Given the description of an element on the screen output the (x, y) to click on. 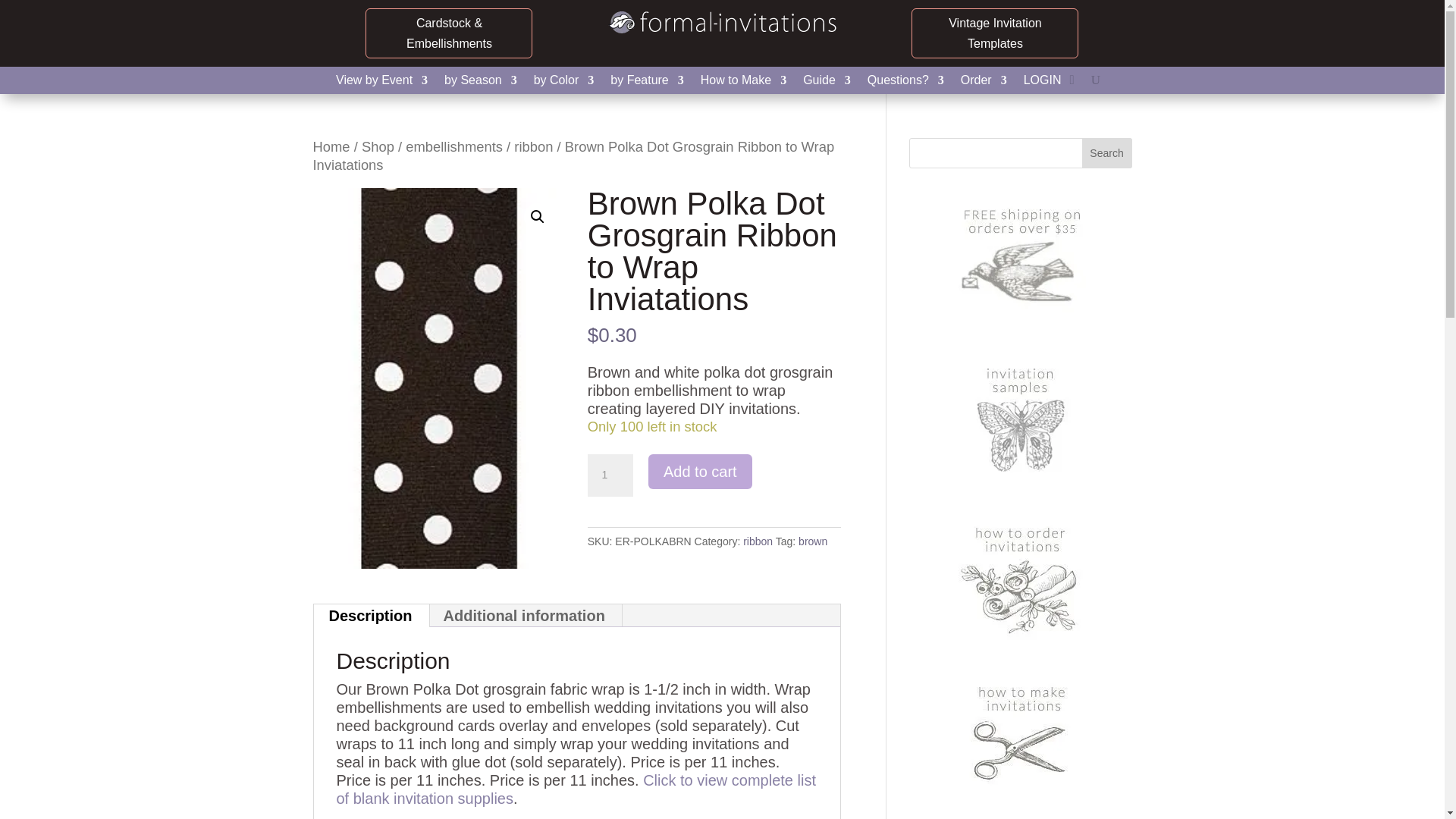
Search (1106, 153)
Vintage Invitation Templates (994, 33)
by Color (564, 83)
fi-logo-rev-300 (721, 22)
by Feature (646, 83)
1 (610, 475)
View by Event (382, 83)
by Season (480, 83)
